Given the description of an element on the screen output the (x, y) to click on. 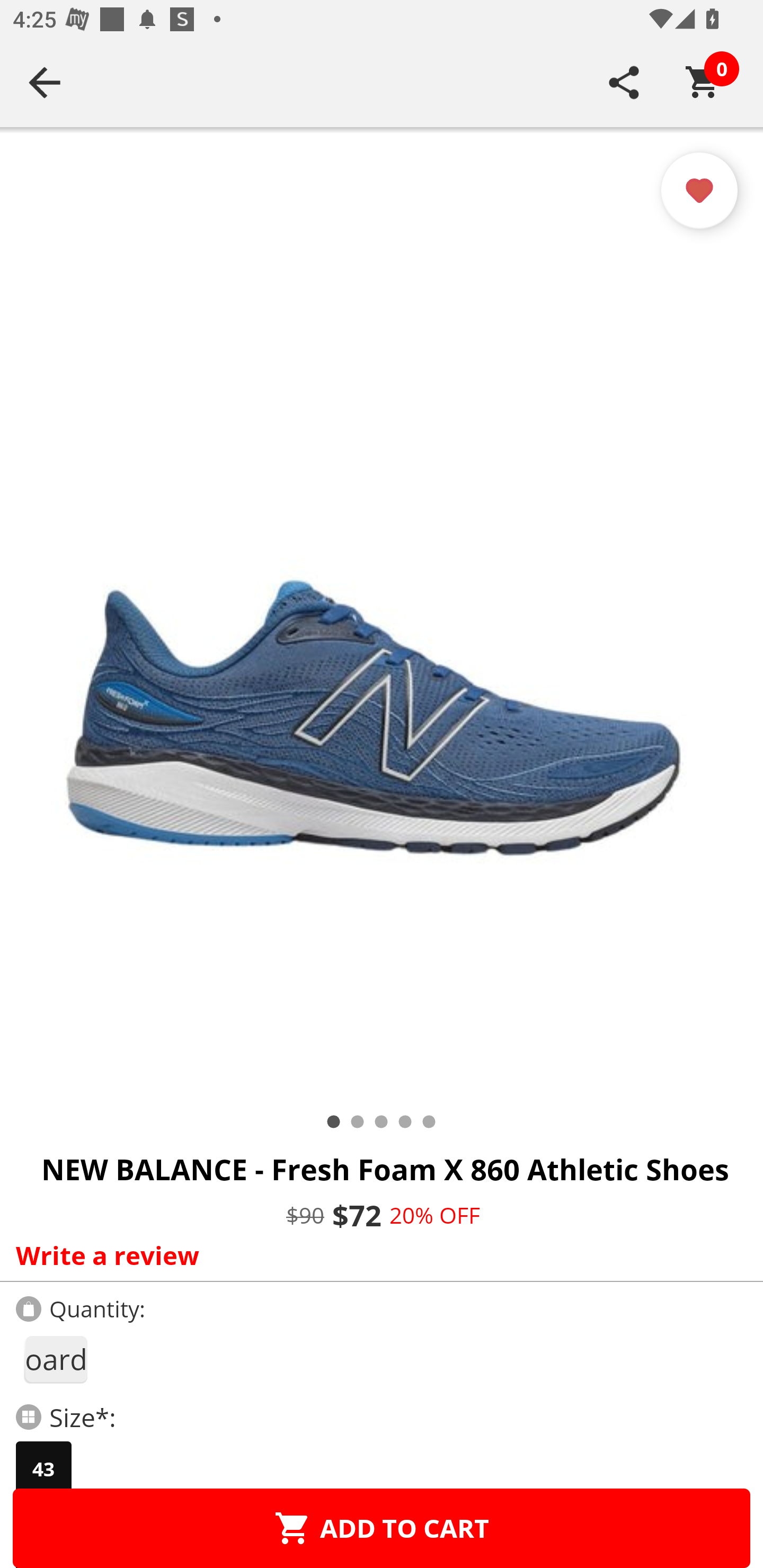
Navigate up (44, 82)
SHARE (623, 82)
Cart (703, 81)
Write a review (377, 1255)
1keyboard (55, 1358)
43 (43, 1468)
ADD TO CART (381, 1528)
